Given the description of an element on the screen output the (x, y) to click on. 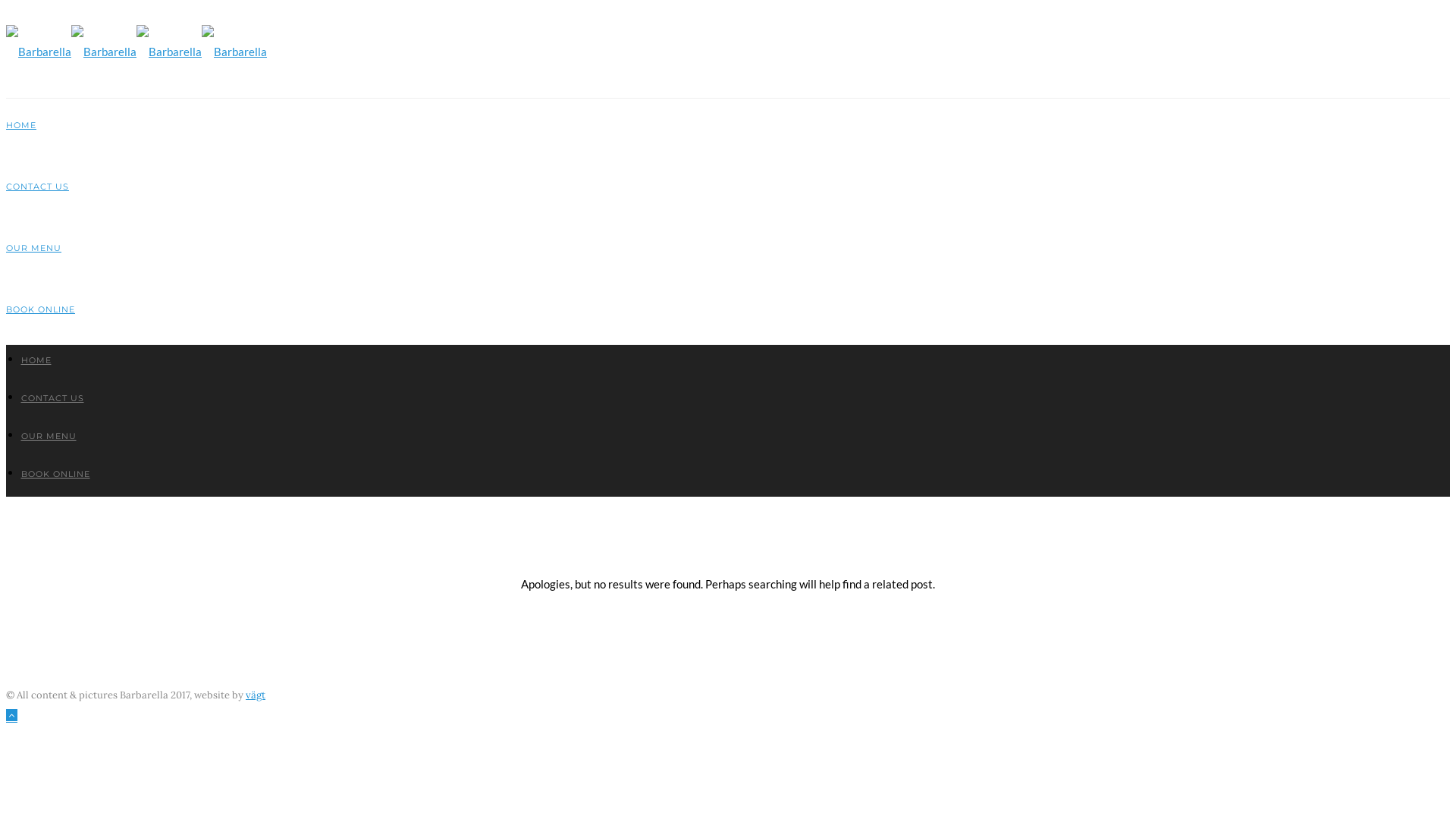
CONTACT US Element type: text (52, 397)
HOME Element type: text (21, 124)
OUR MENU Element type: text (33, 247)
CONTACT US Element type: text (37, 186)
BOOK ONLINE Element type: text (40, 309)
BOOK ONLINE Element type: text (55, 473)
OUR MENU Element type: text (48, 435)
HOME Element type: text (36, 359)
